Given the description of an element on the screen output the (x, y) to click on. 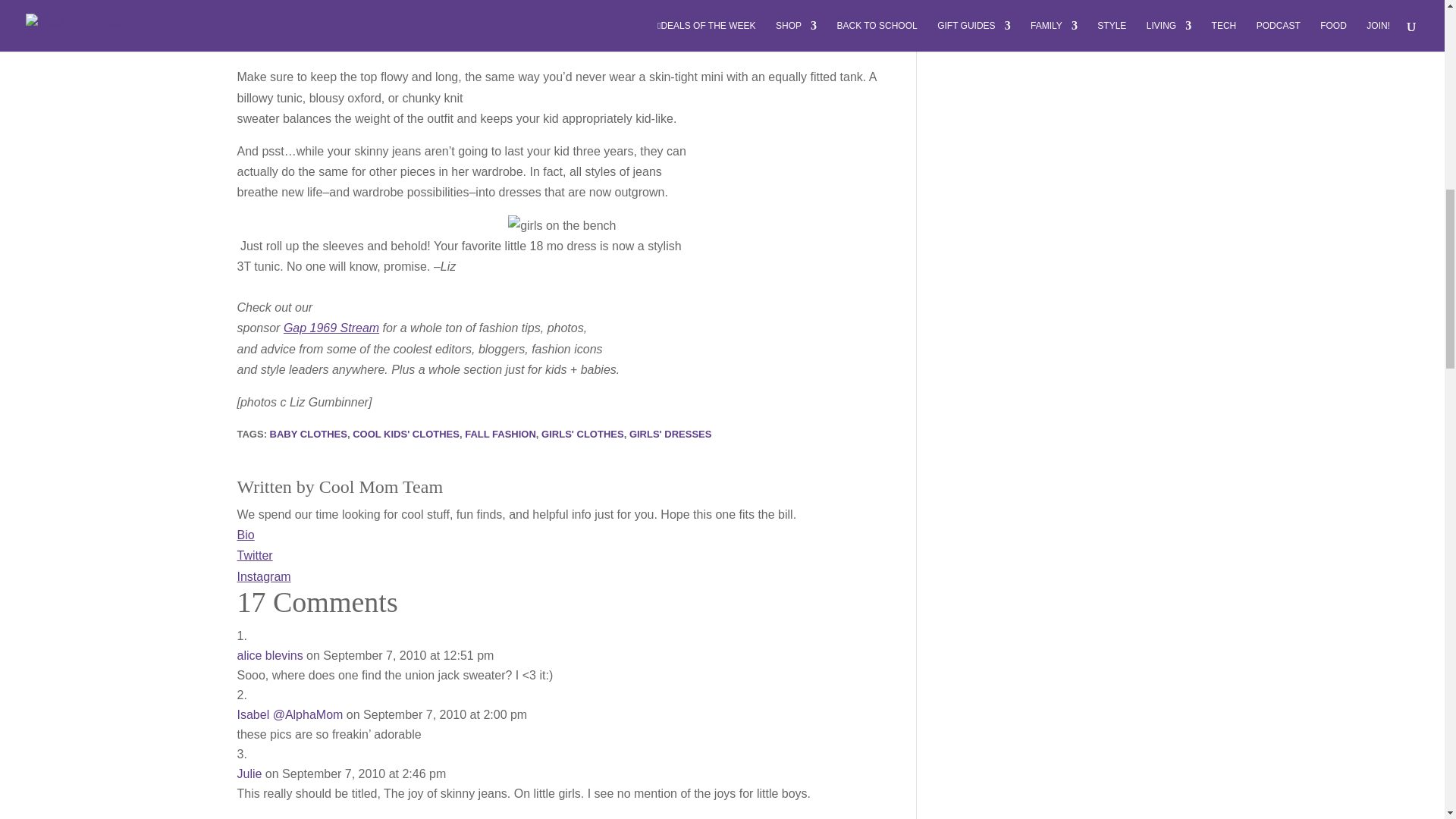
girls on the bench (561, 225)
dress over skinny jeans (801, 31)
gap 1969 (330, 327)
